Given the description of an element on the screen output the (x, y) to click on. 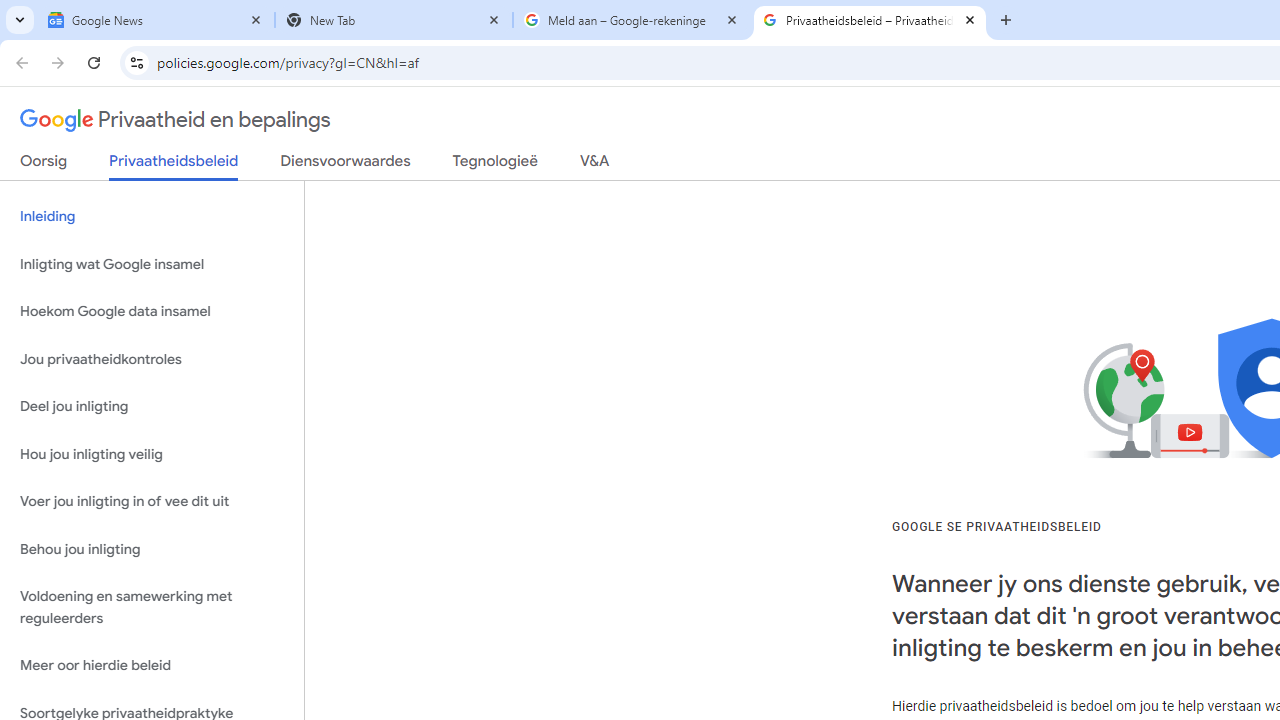
Oorsig (43, 165)
Meer oor hierdie beleid (152, 666)
Inligting wat Google insamel (152, 263)
Hoekom Google data insamel (152, 312)
Google News (156, 20)
Privaatheidsbeleid (173, 166)
Behou jou inligting (152, 548)
Inleiding (152, 216)
